Given the description of an element on the screen output the (x, y) to click on. 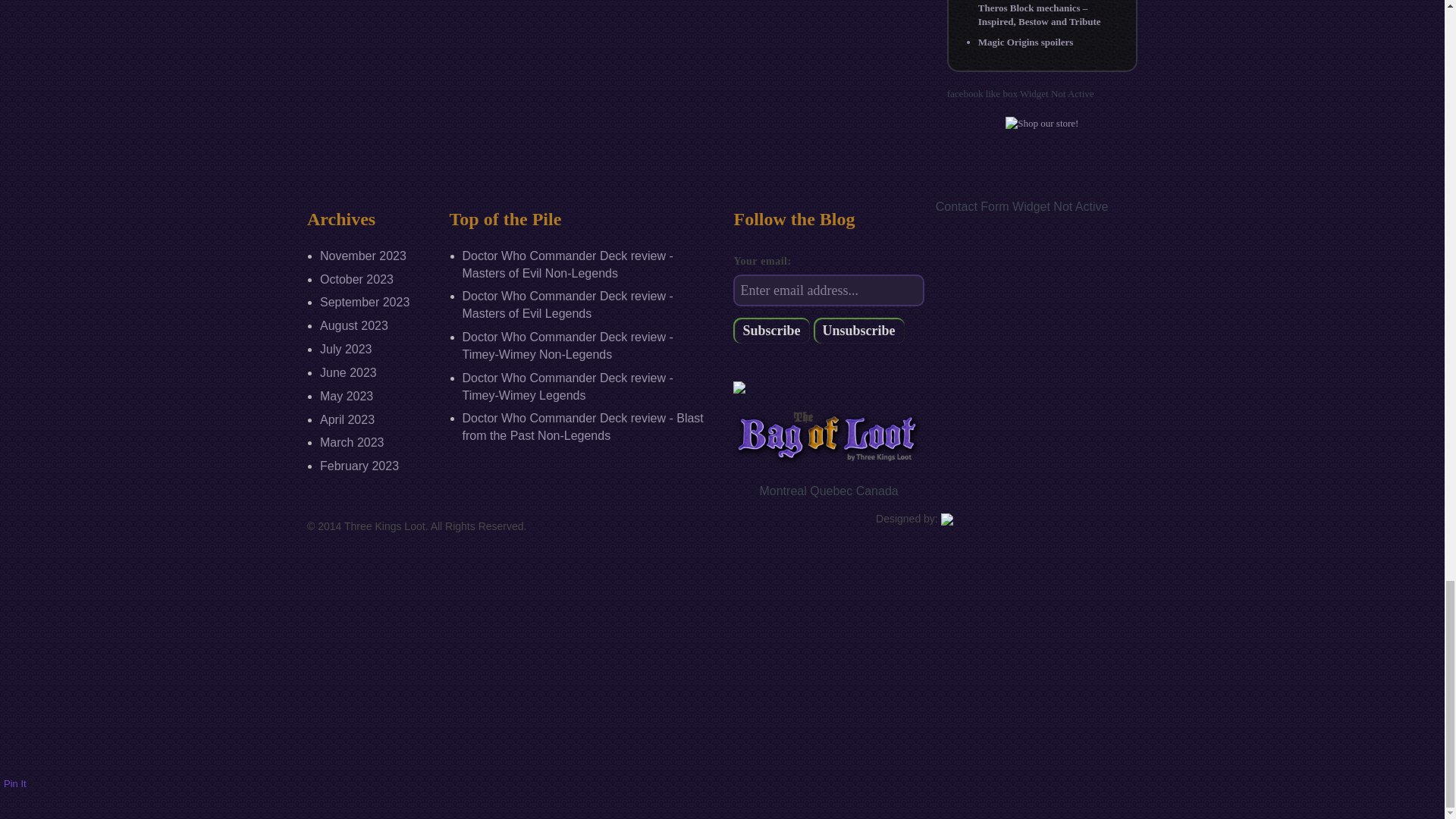
Subscribe (771, 330)
Unsubscribe (858, 330)
Enter email address... (828, 290)
